Given the description of an element on the screen output the (x, y) to click on. 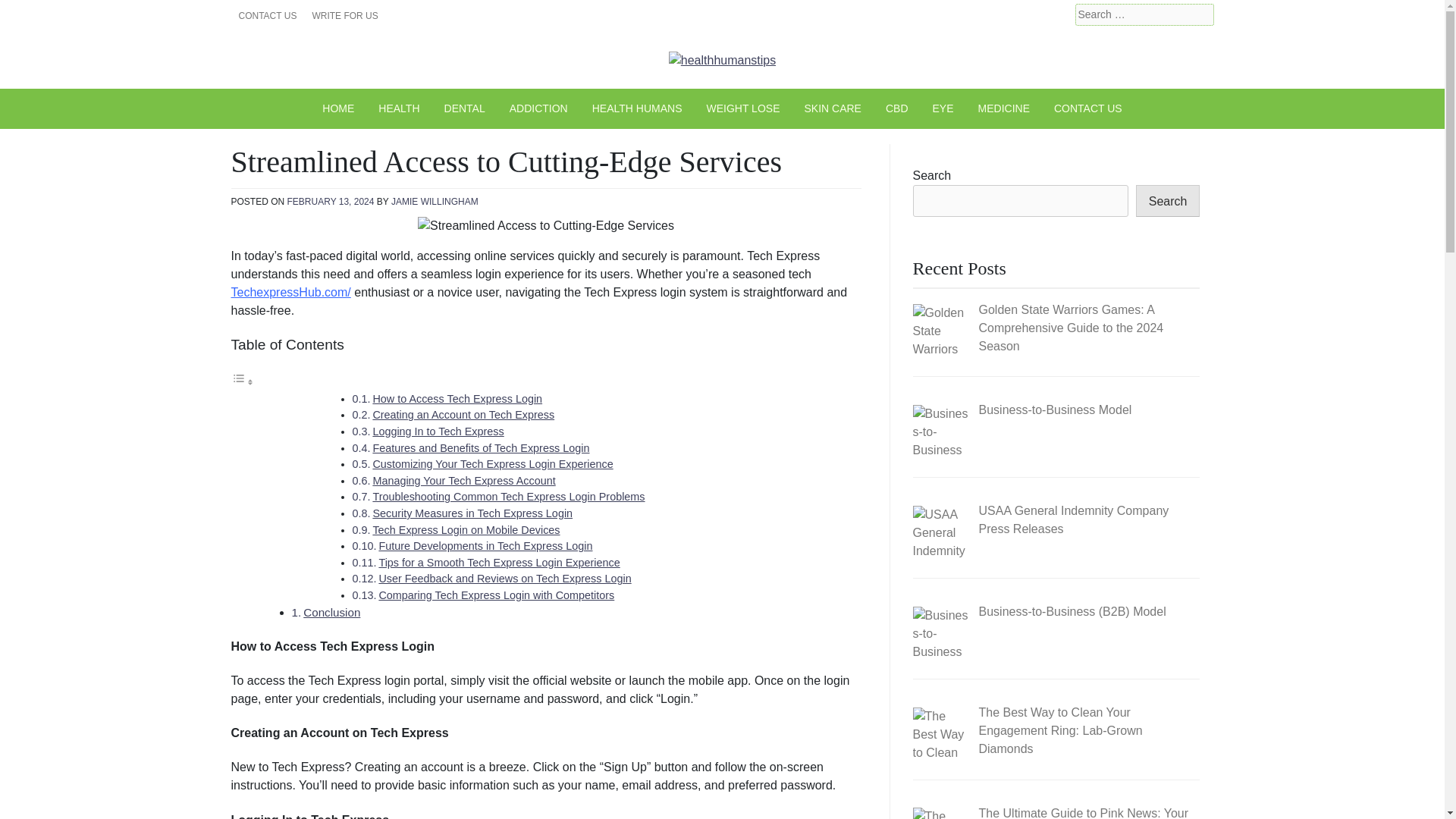
Streamlined Access to Cutting-Edge Services (545, 226)
MEDICINE (1004, 108)
Logging In to Tech Express (437, 431)
Tips for a Smooth Tech Express Login Experience (499, 562)
Security Measures in Tech Express Login (472, 512)
ADDICTION (538, 108)
Customizing Your Tech Express Login Experience (492, 463)
health Humans Tips (367, 88)
SKIN CARE (832, 108)
CONTACT US (267, 15)
